Given the description of an element on the screen output the (x, y) to click on. 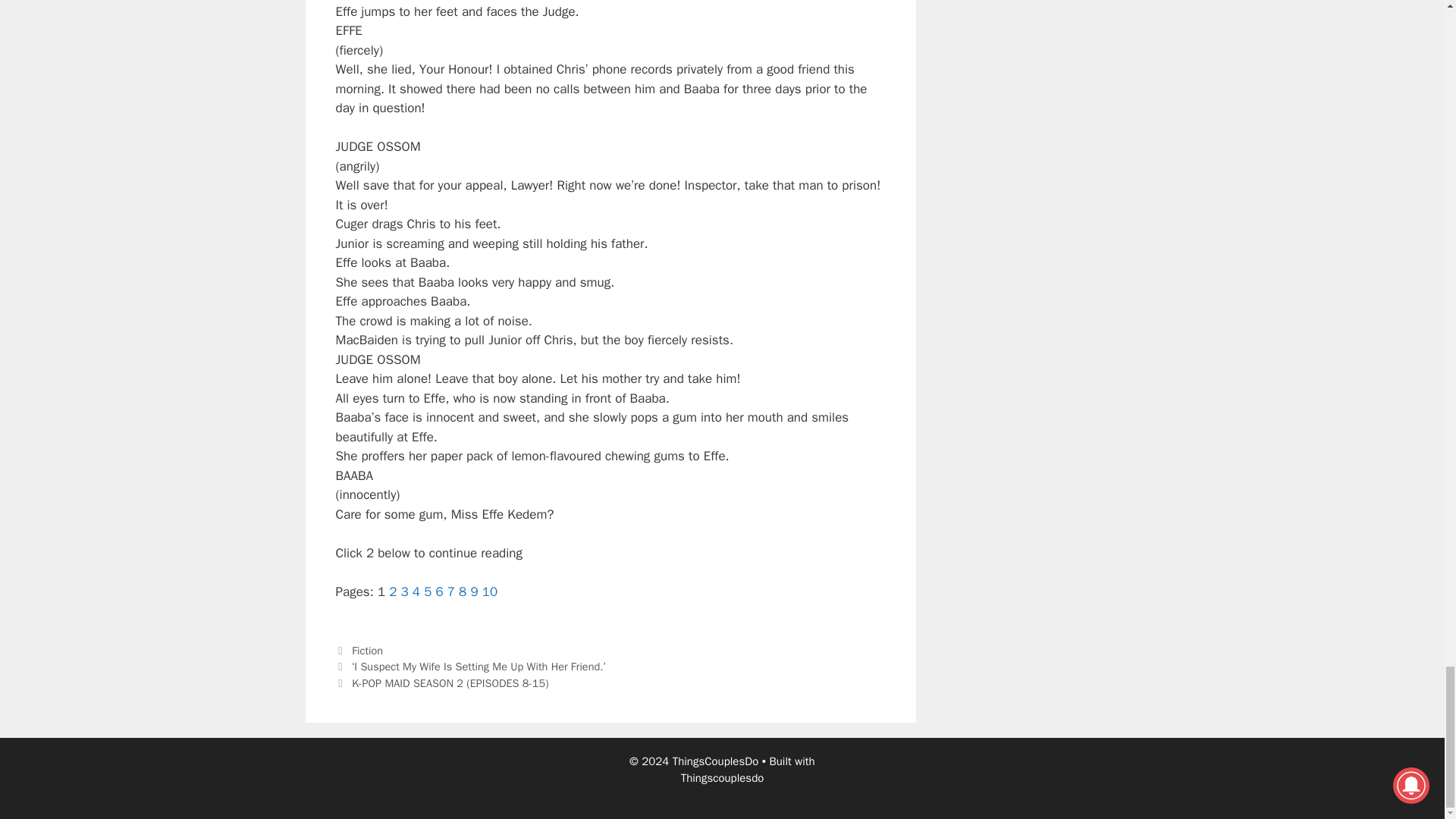
10 (489, 591)
Thingscouplesdo (722, 777)
Fiction (367, 650)
